Given the description of an element on the screen output the (x, y) to click on. 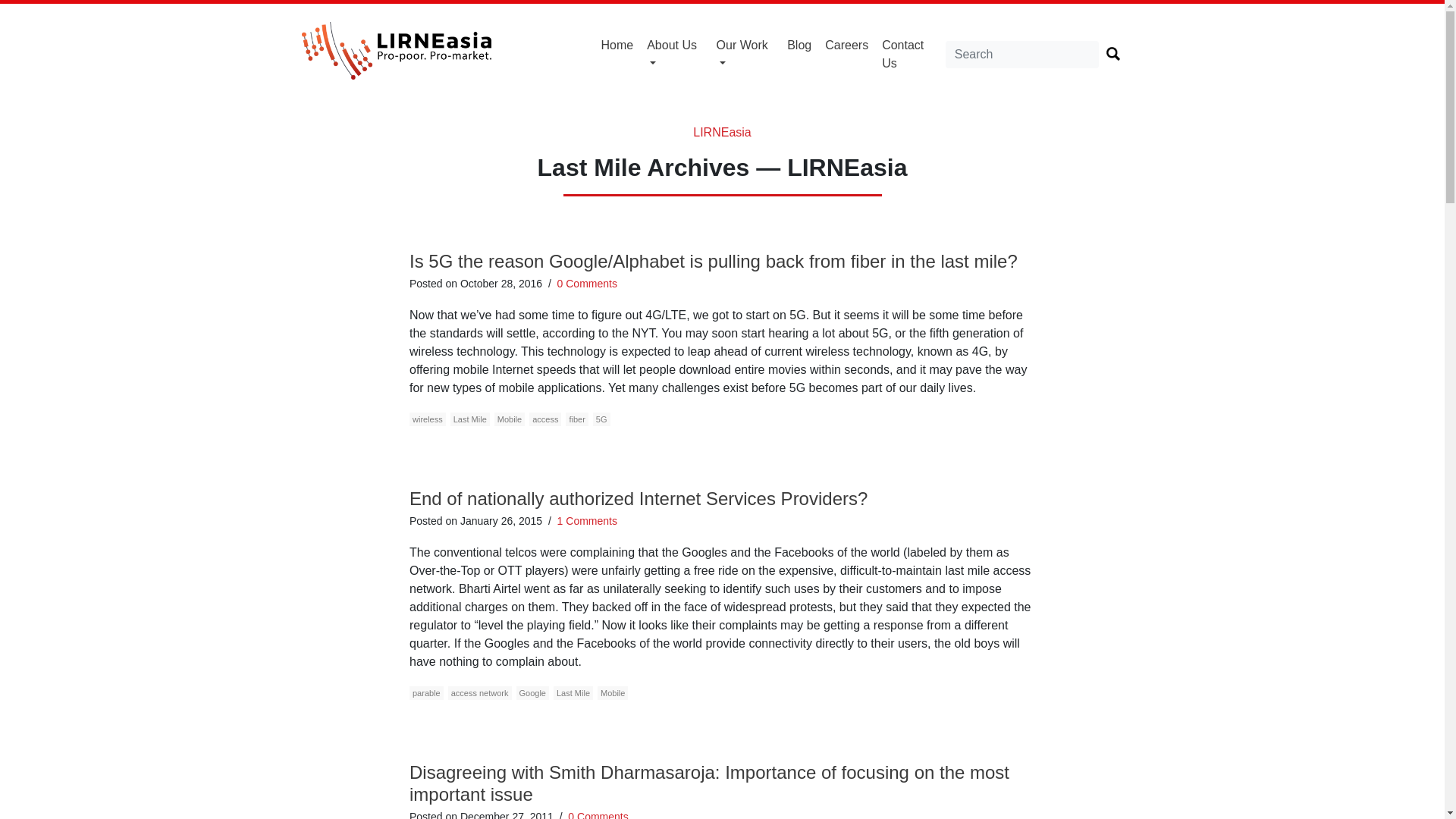
Our Work (745, 54)
About us (674, 54)
Contact Us (909, 54)
Blog (799, 45)
About Us (674, 54)
Careers (846, 45)
Our Work (745, 54)
Home (617, 45)
Contact us (909, 54)
Home (617, 45)
0 Comments (587, 283)
Search for: (1021, 53)
LIRNEasia (722, 132)
Blog (799, 45)
Careers (846, 45)
